Given the description of an element on the screen output the (x, y) to click on. 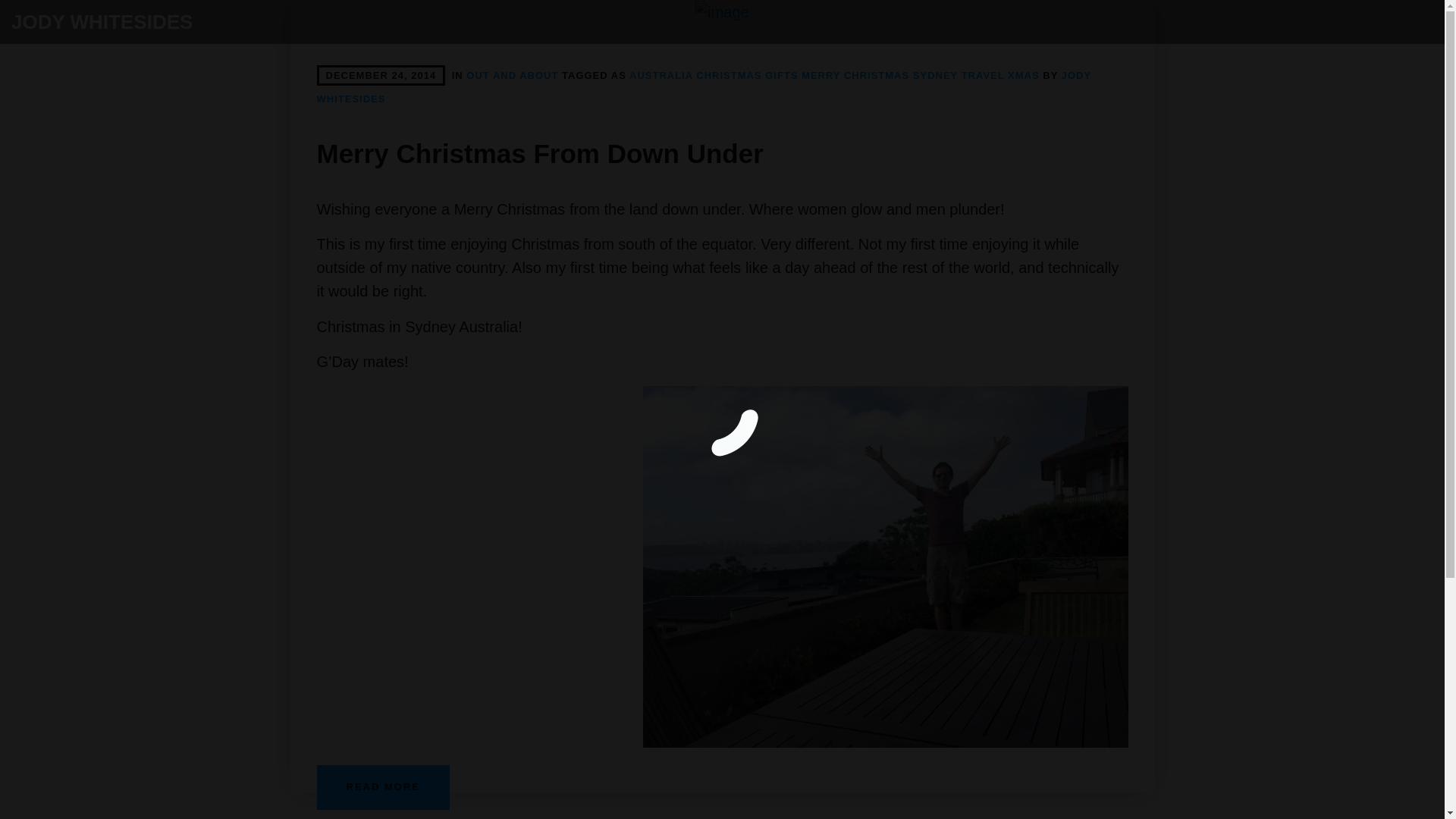
Merry Christmas From Down Under (721, 12)
View all posts in: Out And About (511, 75)
OUT AND ABOUT (511, 75)
GIFTS (781, 75)
image (721, 12)
AUSTRALIA (660, 75)
READ MORE (383, 786)
JODY WHITESIDES (101, 21)
JODY WHITESIDES (703, 86)
XMAS (1023, 75)
View all posts tagged as: australia (660, 75)
View all posts tagged as: sydney (935, 75)
View all posts tagged as: merry christmas (855, 75)
TRAVEL (982, 75)
View all posts tagged as: christmas (728, 75)
